Given the description of an element on the screen output the (x, y) to click on. 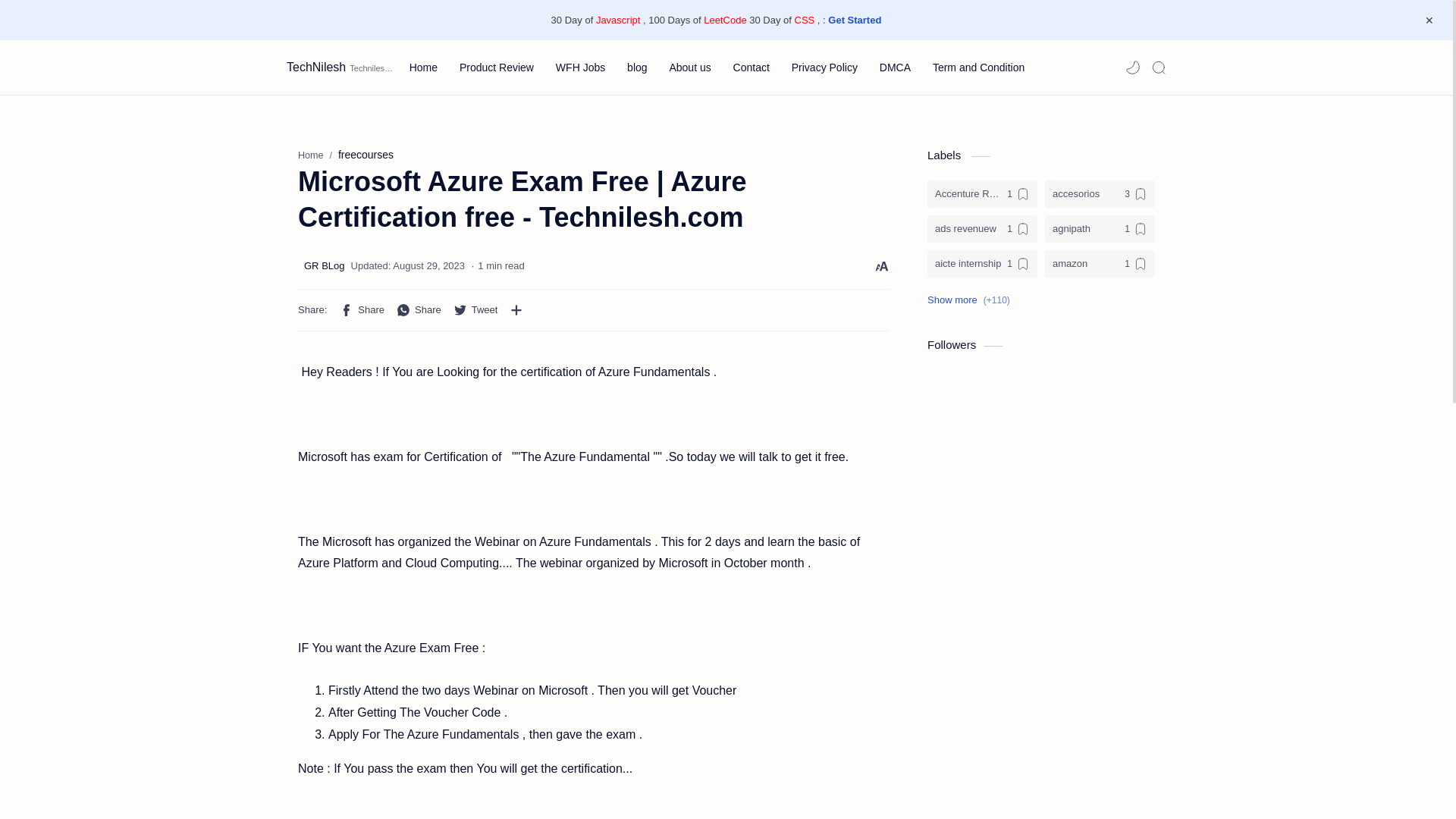
Home (423, 67)
DMCA (895, 67)
About us (689, 67)
Term and Condition (979, 67)
Last updated: August 29, 2023 (407, 265)
Get Started (854, 19)
TechNilesh (316, 67)
Privacy Policy (824, 67)
Contact (751, 67)
Product Review (497, 67)
